Given the description of an element on the screen output the (x, y) to click on. 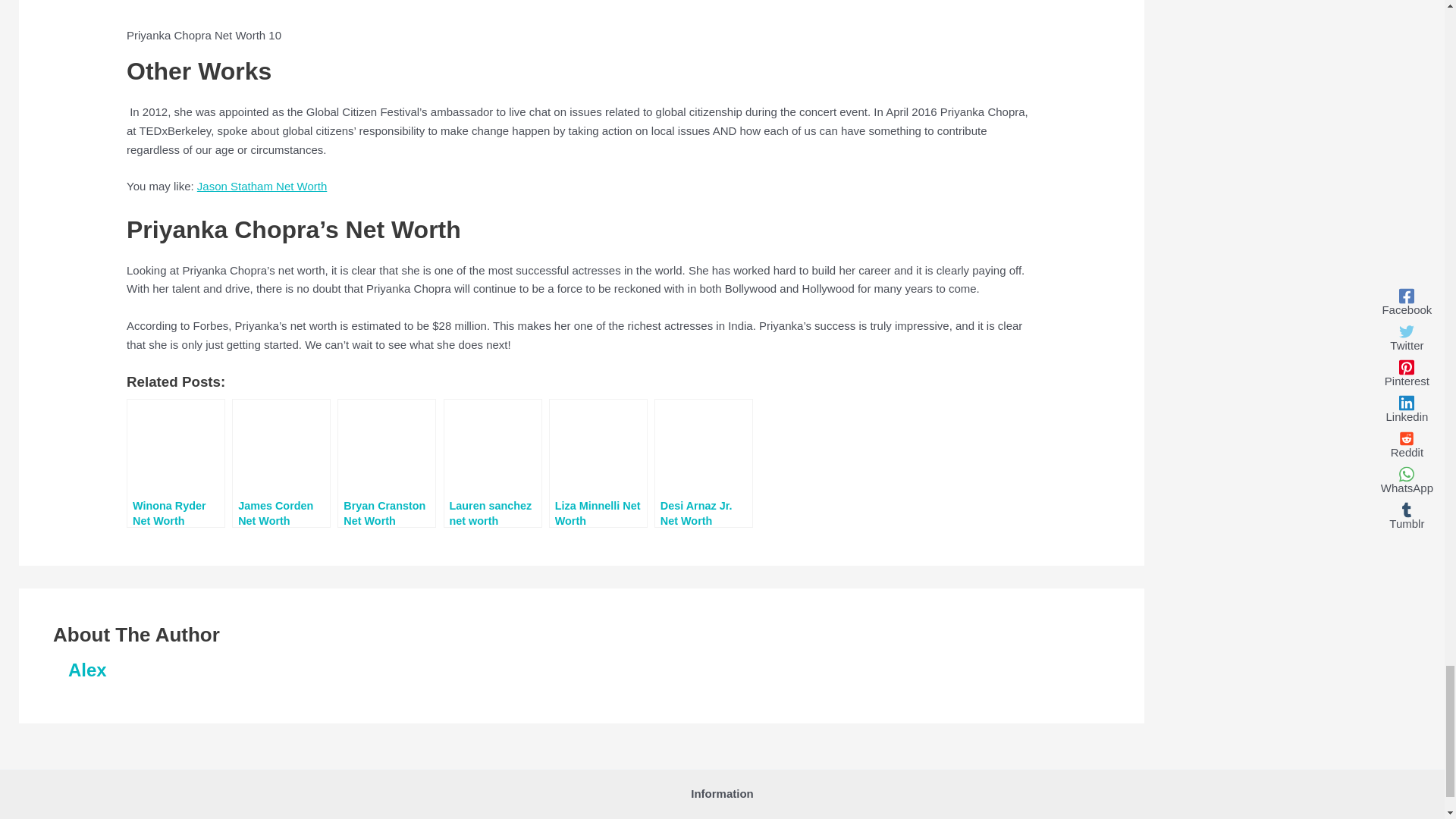
winona ryder net worth 11 (176, 448)
priyanka chopra net worth 6 (392, 10)
bryan cranston net worth 12 (387, 448)
